Given the description of an element on the screen output the (x, y) to click on. 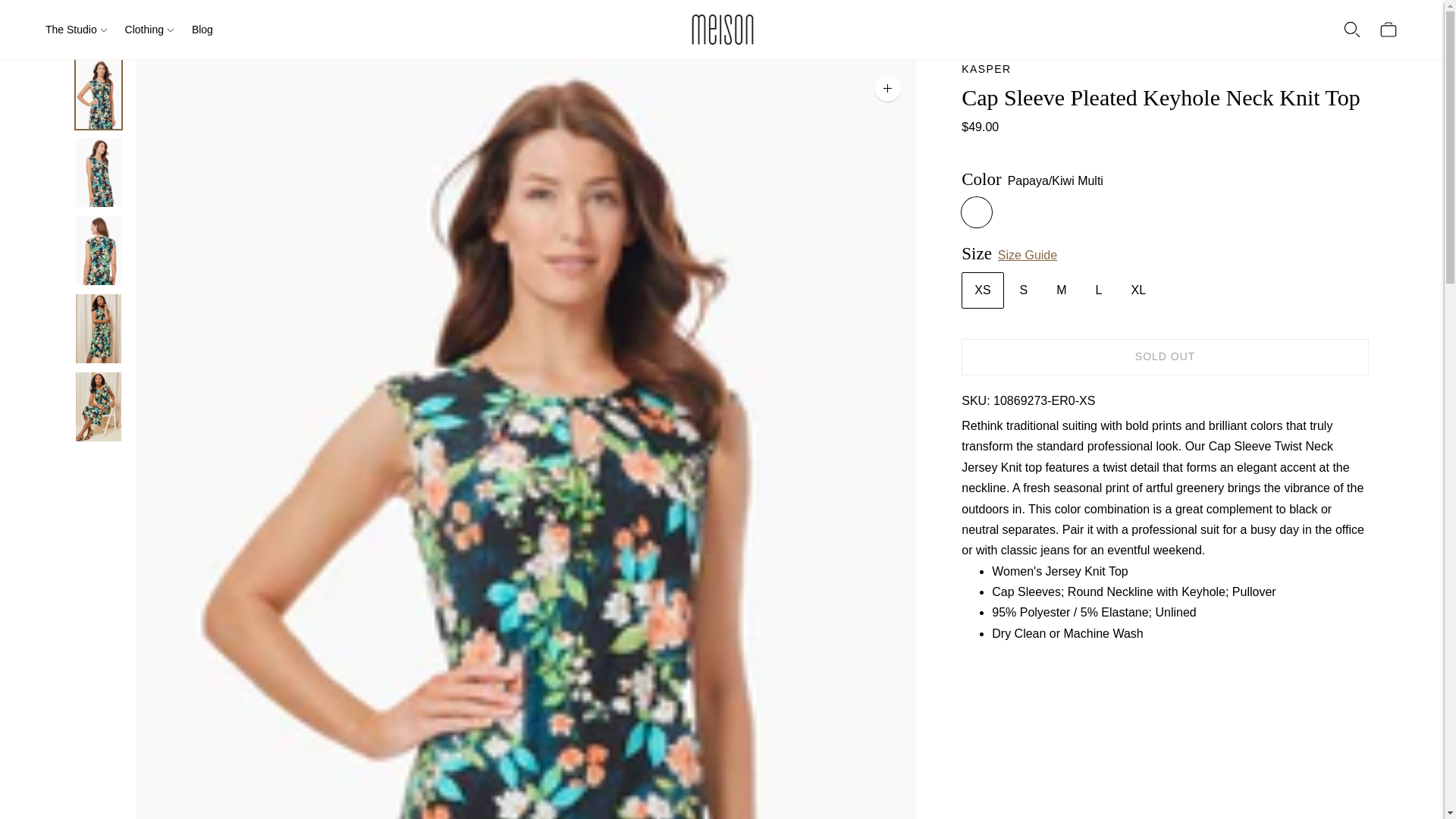
Clothing (149, 29)
Kasper (985, 69)
The Studio (75, 29)
